Given the description of an element on the screen output the (x, y) to click on. 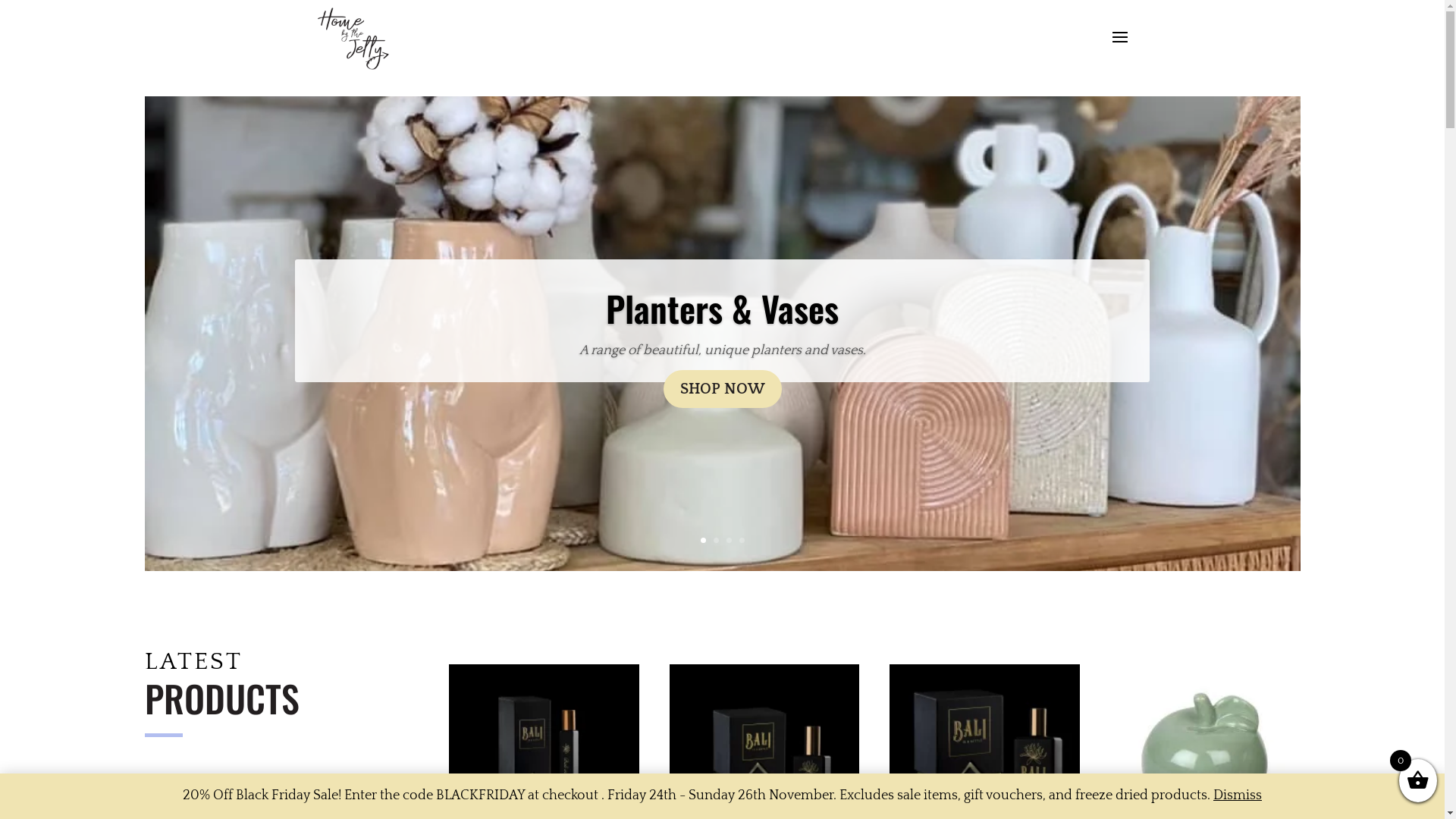
3 Element type: text (728, 539)
2 Element type: text (715, 539)
SHOP NOW Element type: text (721, 388)
Planters & Vases Element type: text (721, 307)
1 Element type: text (703, 539)
4 Element type: text (740, 539)
Dismiss Element type: text (1237, 795)
